Given the description of an element on the screen output the (x, y) to click on. 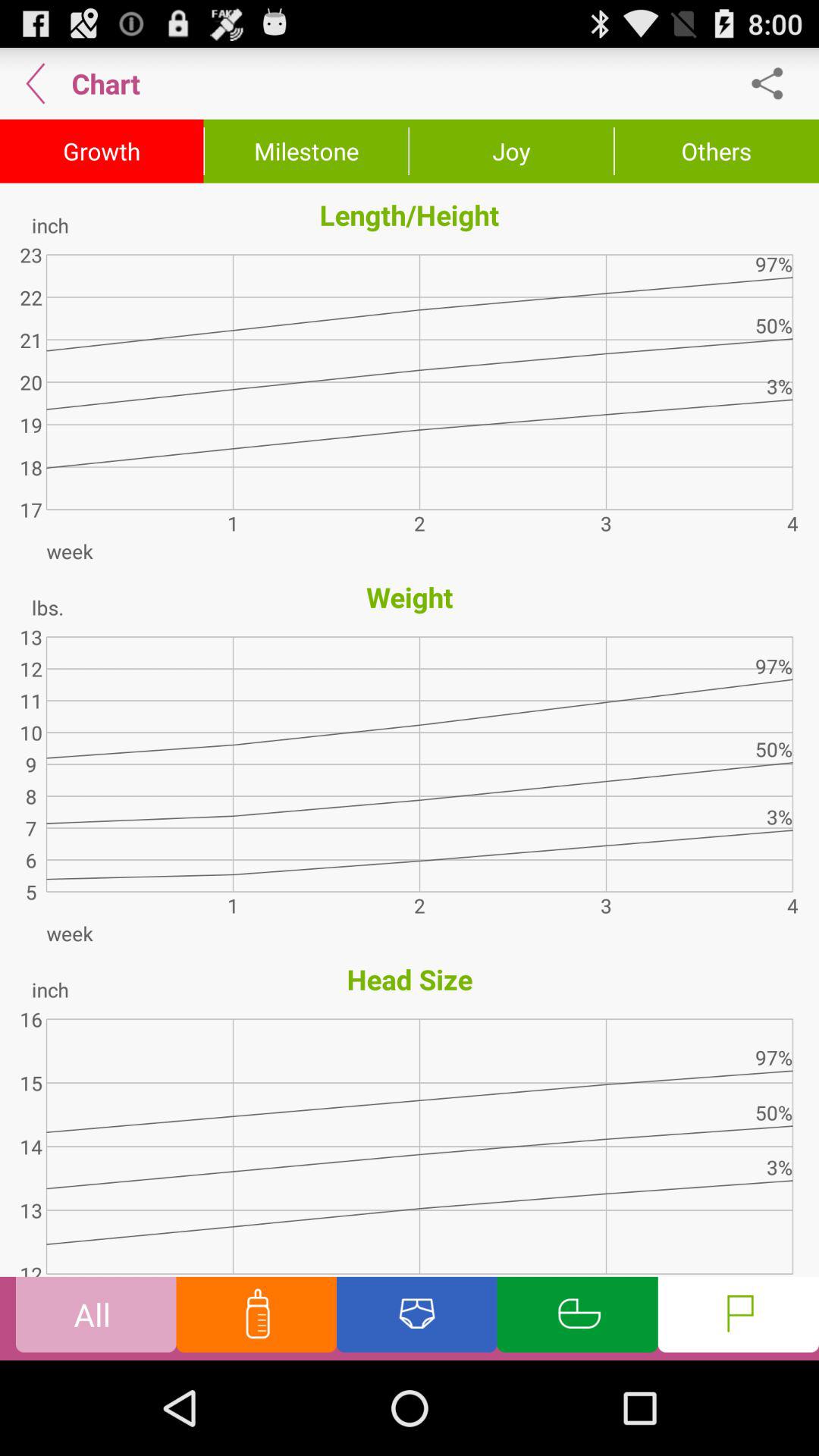
share charts (775, 83)
